Given the description of an element on the screen output the (x, y) to click on. 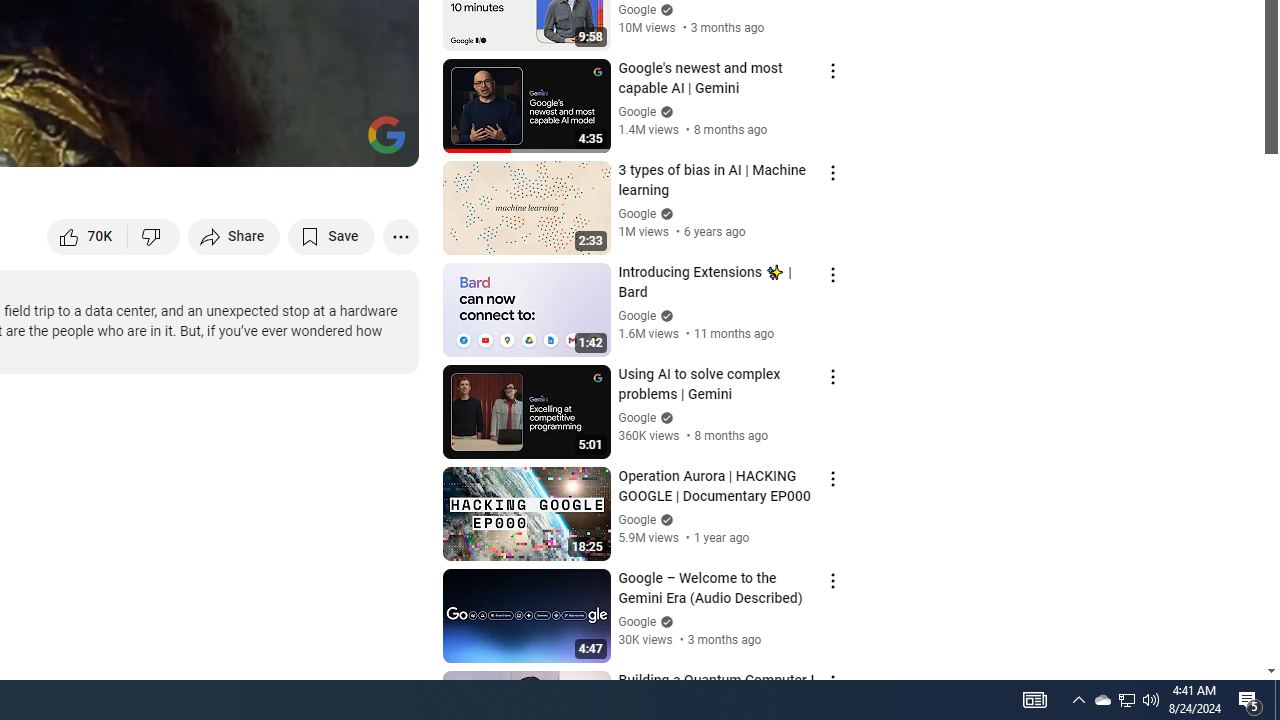
Autoplay is on (141, 142)
Share (234, 236)
Verified (664, 621)
Subtitles/closed captions unavailable (190, 142)
More actions (399, 236)
Save to playlist (331, 236)
like this video along with 70,975 other people (88, 236)
Channel watermark (386, 134)
Miniplayer (i) (286, 142)
Theater mode (t) (333, 142)
Channel watermark (386, 134)
